Given the description of an element on the screen output the (x, y) to click on. 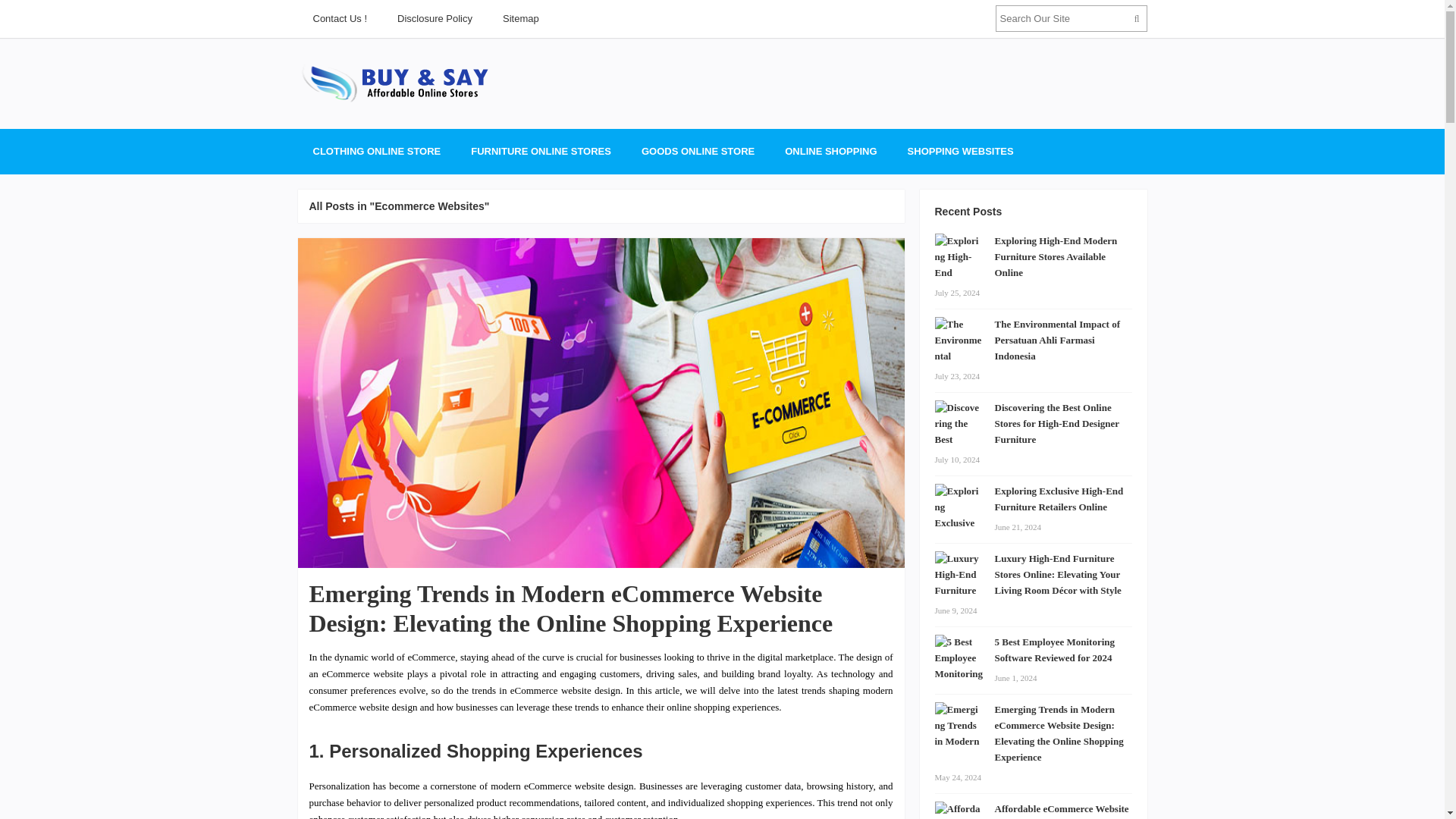
Disclosure Policy (434, 18)
Contact Us ! (339, 18)
CLOTHING ONLINE STORE (376, 151)
ONLINE SHOPPING (830, 151)
FURNITURE ONLINE STORES (540, 151)
SHOPPING WEBSITES (960, 151)
GOODS ONLINE STORE (698, 151)
Sitemap (520, 18)
